Given the description of an element on the screen output the (x, y) to click on. 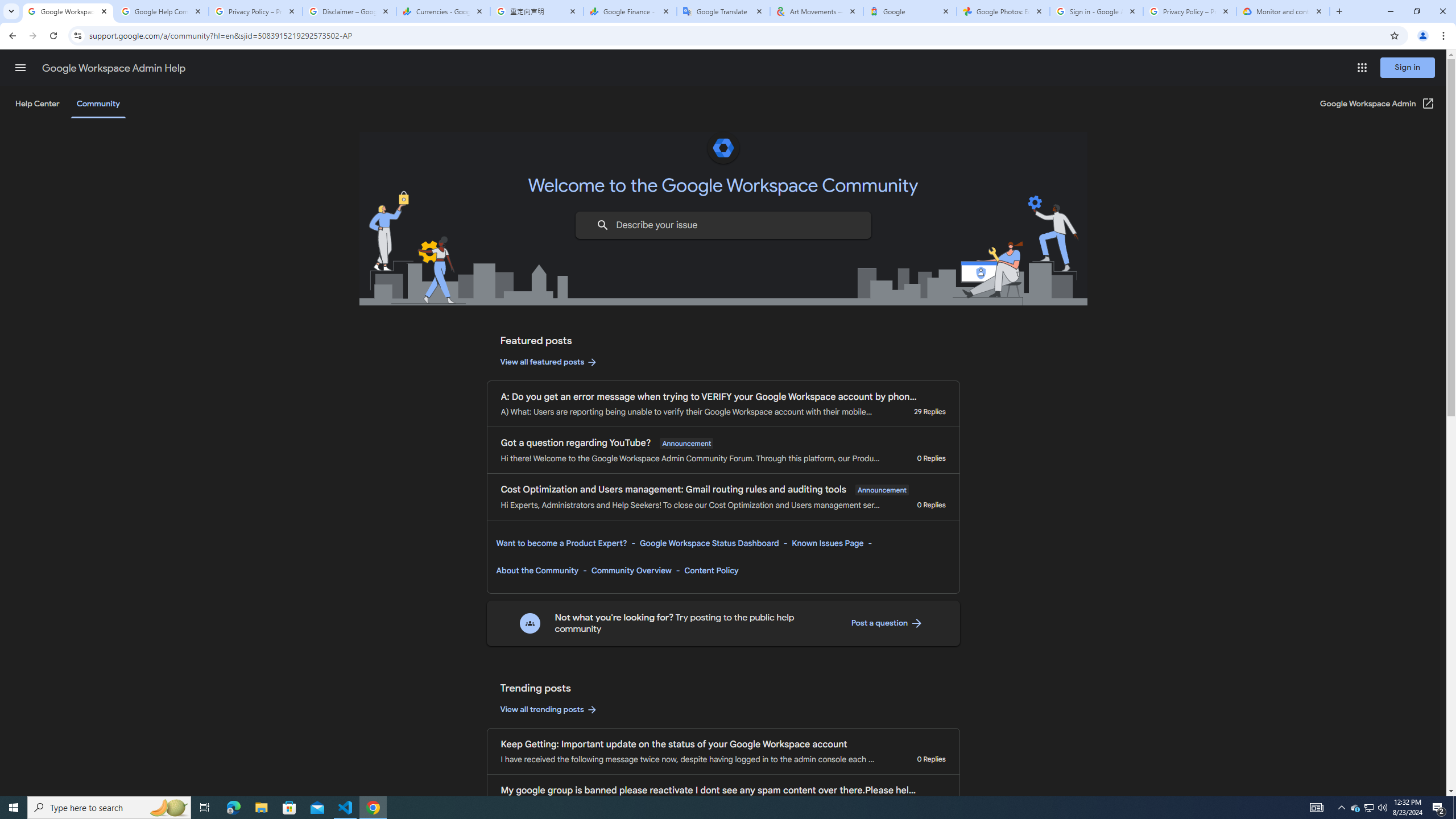
Currencies - Google Finance (443, 11)
Post a question  (886, 623)
Search (601, 225)
Address and search bar (735, 35)
Google Workspace Admin Community (67, 11)
About the Community (537, 570)
